Given the description of an element on the screen output the (x, y) to click on. 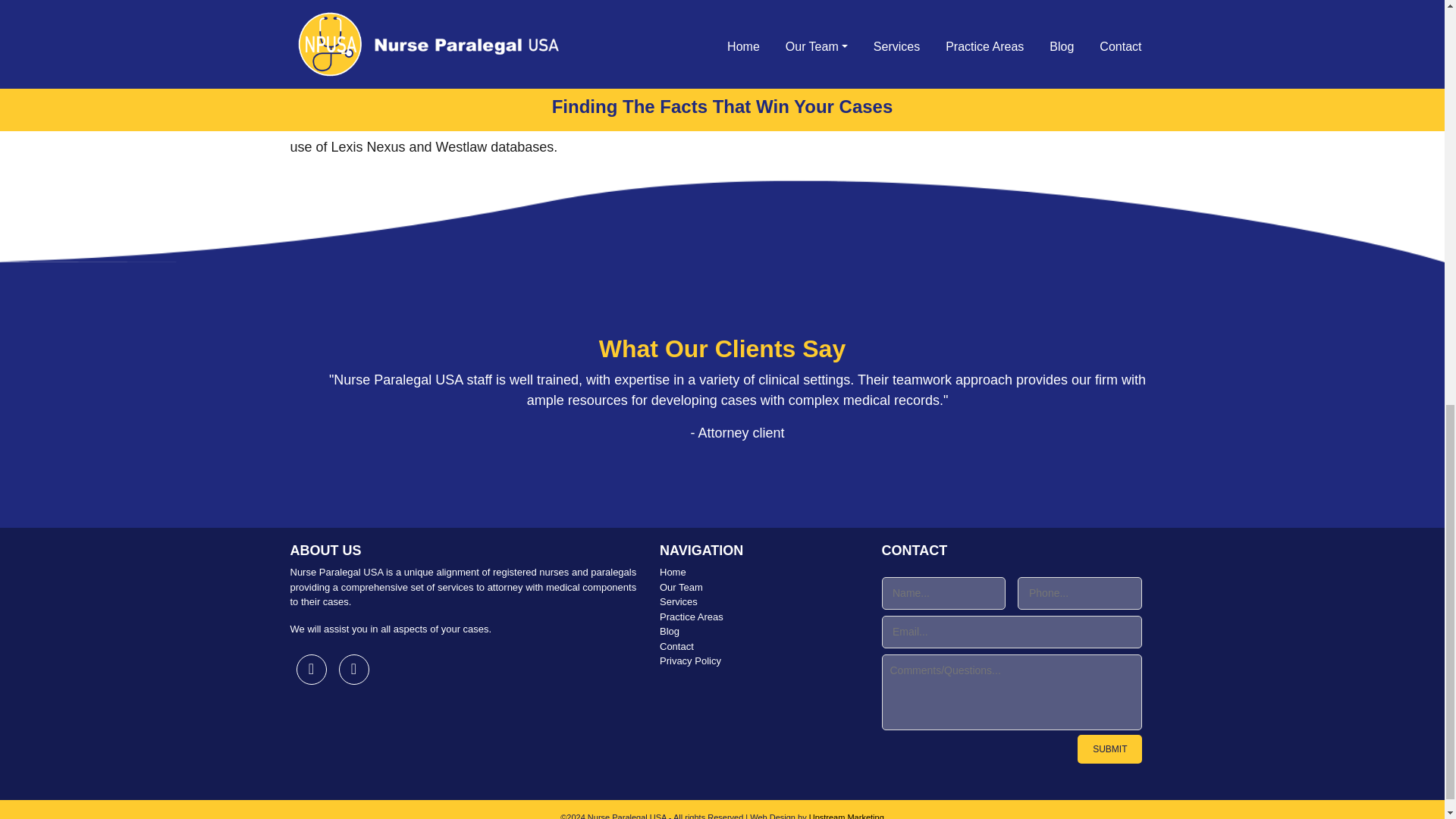
Blog (759, 631)
Upstream Marketing (846, 816)
Practice Areas (759, 616)
Services (759, 601)
Submit (1109, 748)
Blog (759, 631)
Home (759, 572)
Practice Areas (759, 616)
Our Team (759, 587)
Home (759, 572)
